Given the description of an element on the screen output the (x, y) to click on. 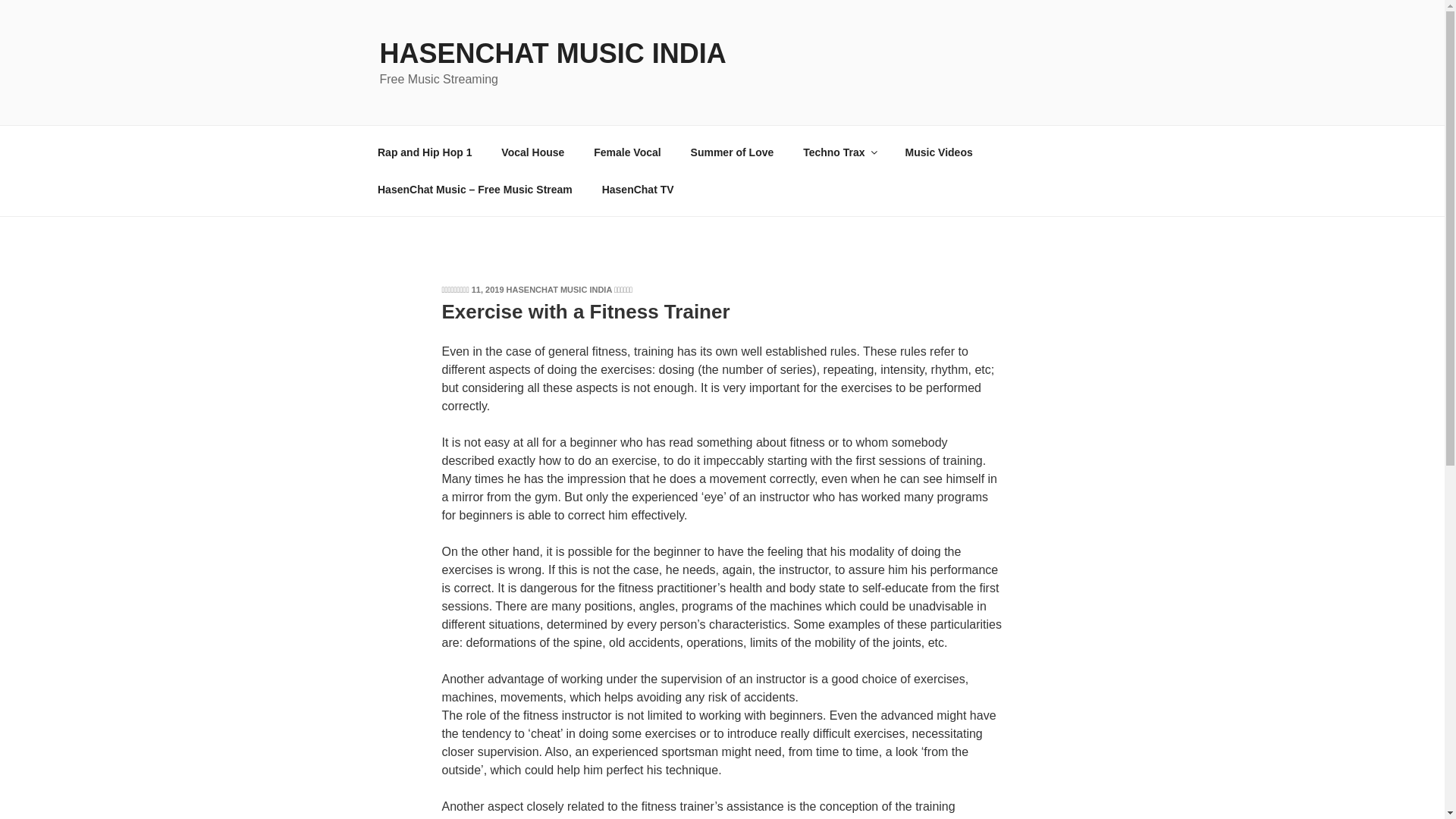
Music Videos (938, 151)
Rap and Hip Hop 1 (424, 151)
HASENCHAT MUSIC INDIA (558, 289)
HASENCHAT MUSIC INDIA (551, 52)
Vocal House (532, 151)
Female Vocal (627, 151)
Summer of Love (732, 151)
HasenChat TV (637, 189)
Techno Trax (839, 151)
